Given the description of an element on the screen output the (x, y) to click on. 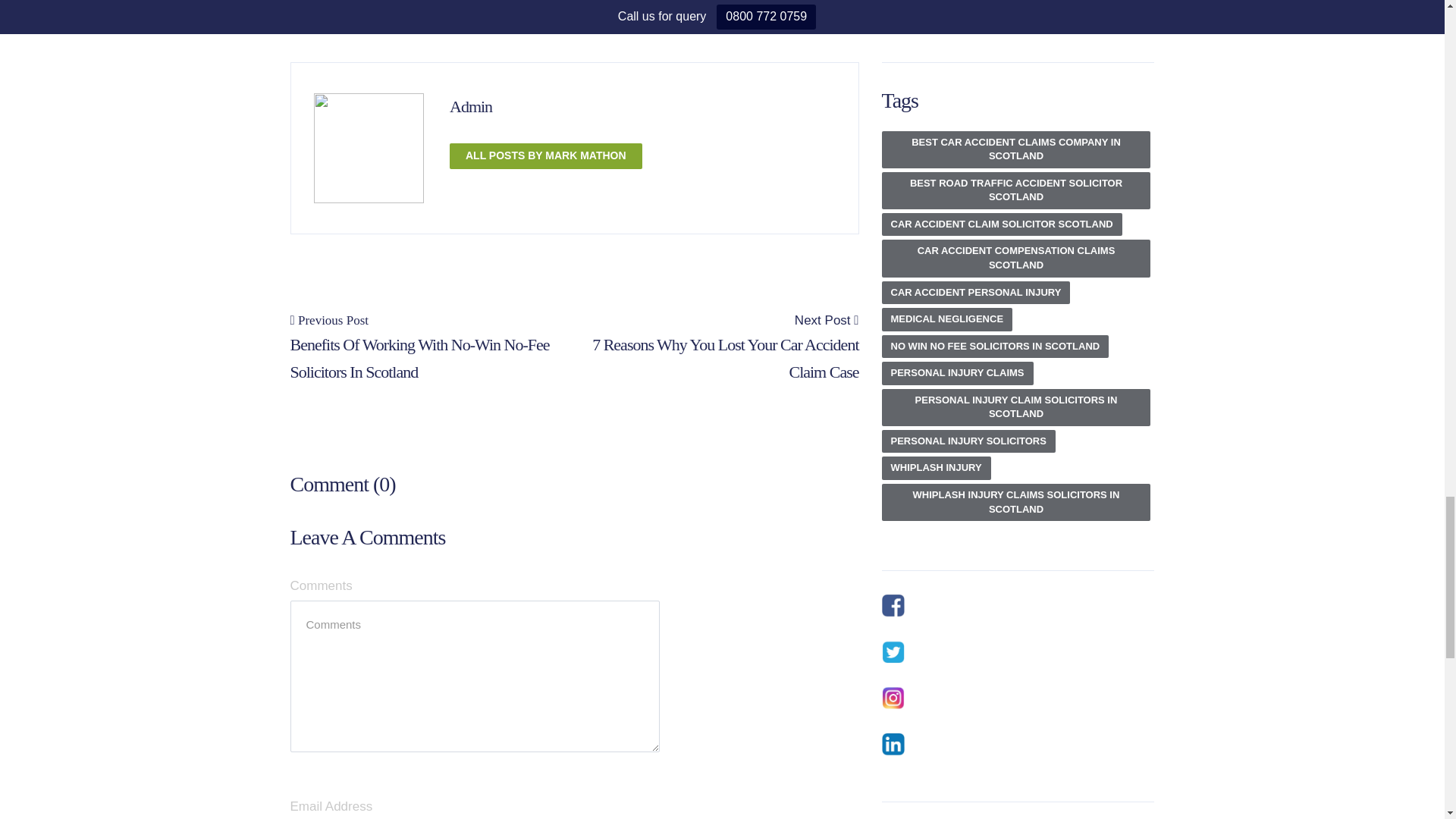
Posts by admin (470, 106)
Admin (470, 106)
